Given the description of an element on the screen output the (x, y) to click on. 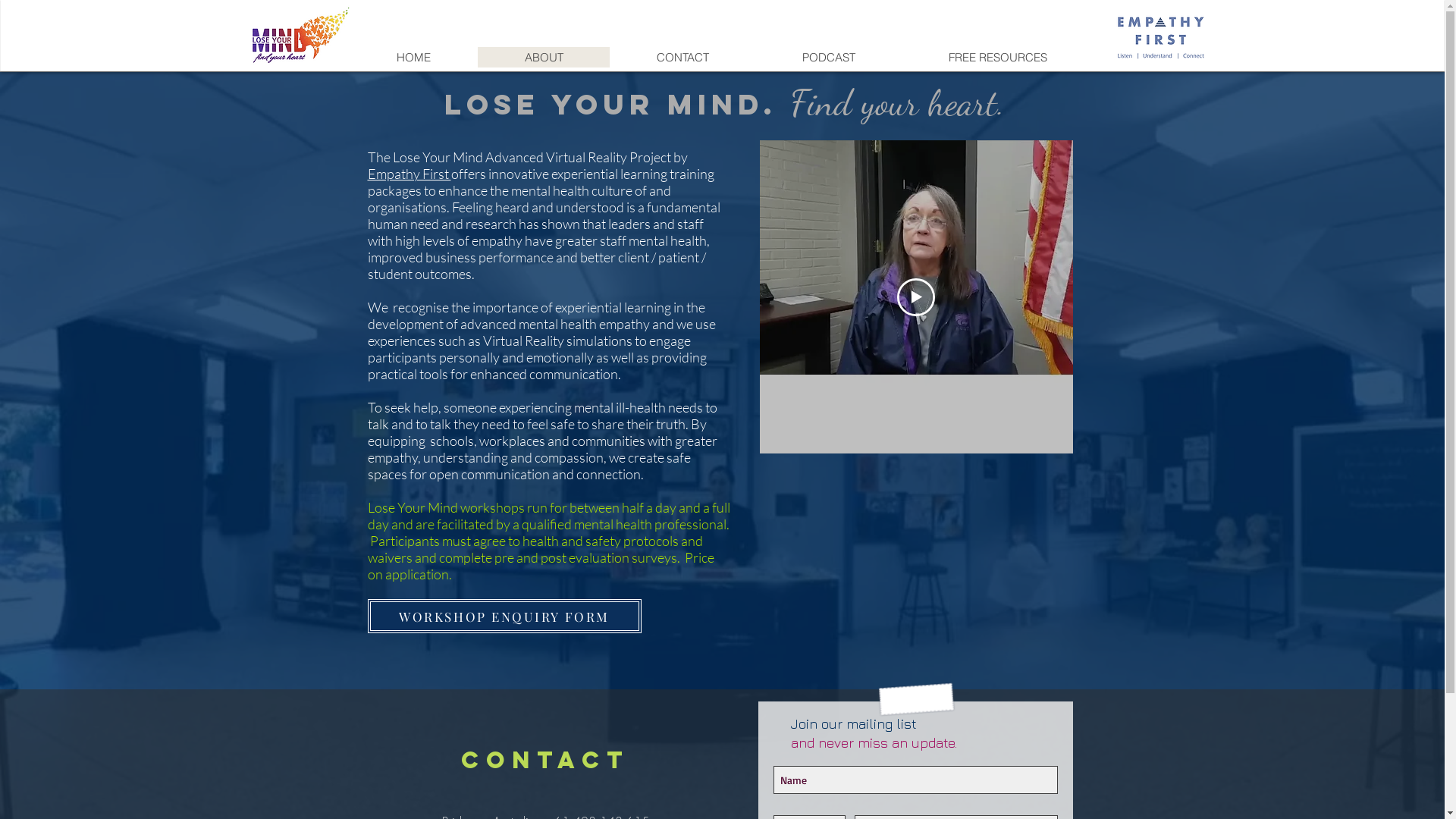
Empathy First Element type: text (408, 173)
HOME Element type: text (413, 57)
CONTACT Element type: text (682, 57)
FREE RESOURCES Element type: text (996, 57)
WORKSHOP ENQUIRY FORM Element type: text (503, 616)
PODCAST Element type: text (828, 57)
ABOUT Element type: text (543, 57)
